Given the description of an element on the screen output the (x, y) to click on. 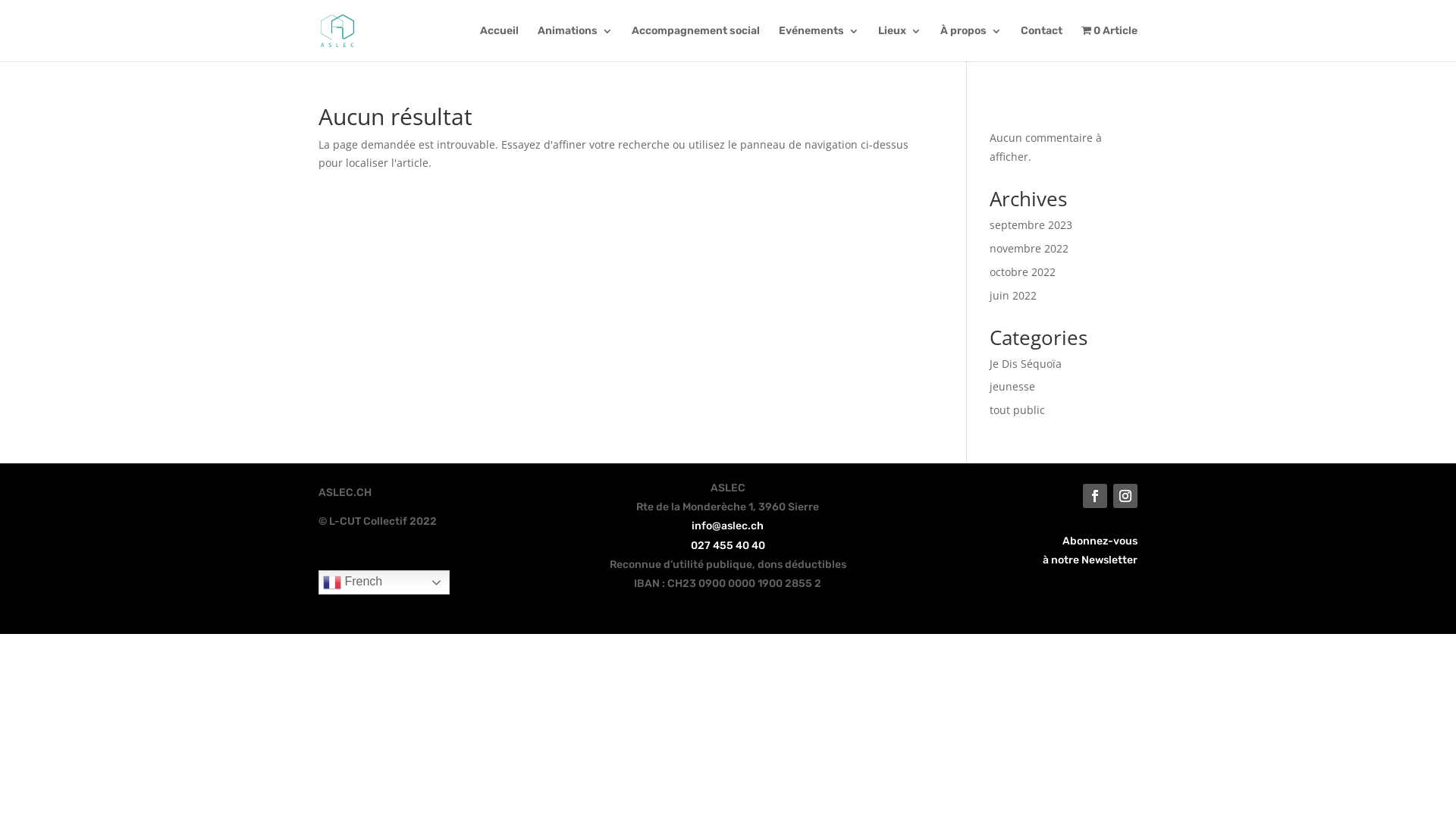
jeunesse Element type: text (1012, 386)
Lieux Element type: text (899, 43)
juin 2022 Element type: text (1012, 295)
Suivez sur Instagram Element type: hover (1125, 495)
027 455 40 40 Element type: text (727, 545)
info@aslec.ch Element type: text (727, 525)
Abonnez-vous Element type: text (1099, 540)
septembre 2023 Element type: text (1030, 224)
0 Article Element type: text (1109, 43)
Accompagnement social Element type: text (694, 43)
Animations Element type: text (573, 43)
octobre 2022 Element type: text (1022, 271)
tout public Element type: text (1016, 409)
Contact Element type: text (1041, 43)
novembre 2022 Element type: text (1028, 248)
Suivez sur Facebook Element type: hover (1094, 495)
French Element type: text (383, 582)
Accueil Element type: text (498, 43)
